Given the description of an element on the screen output the (x, y) to click on. 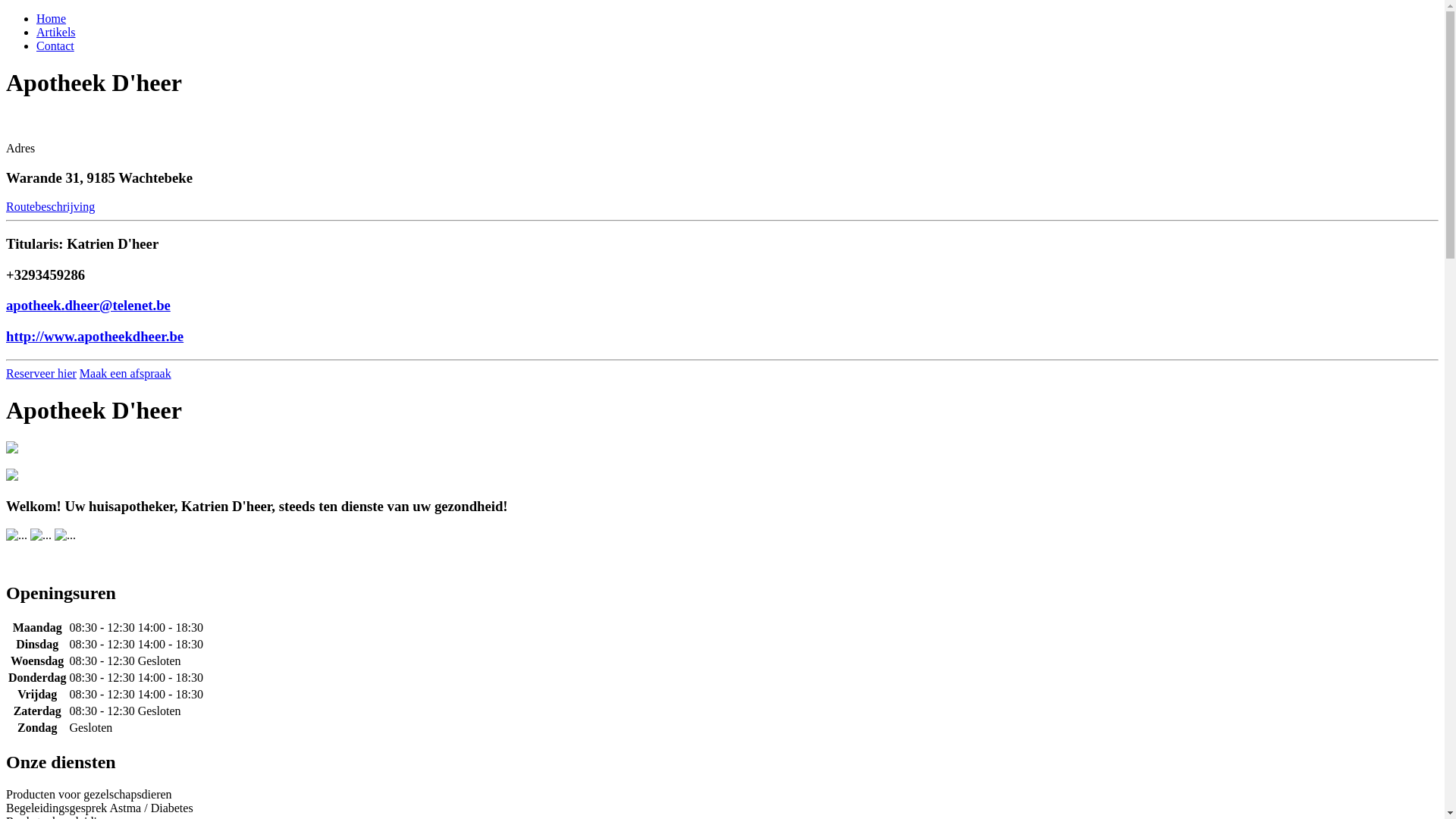
Home Element type: text (50, 18)
apotheek.dheer@telenet.be Element type: text (88, 305)
http://www.apotheekdheer.be Element type: text (94, 336)
Reserveer hier Element type: text (41, 373)
Artikels Element type: text (55, 31)
Routebeschrijving Element type: text (50, 206)
Contact Element type: text (55, 45)
Maak een afspraak Element type: text (125, 373)
